Given the description of an element on the screen output the (x, y) to click on. 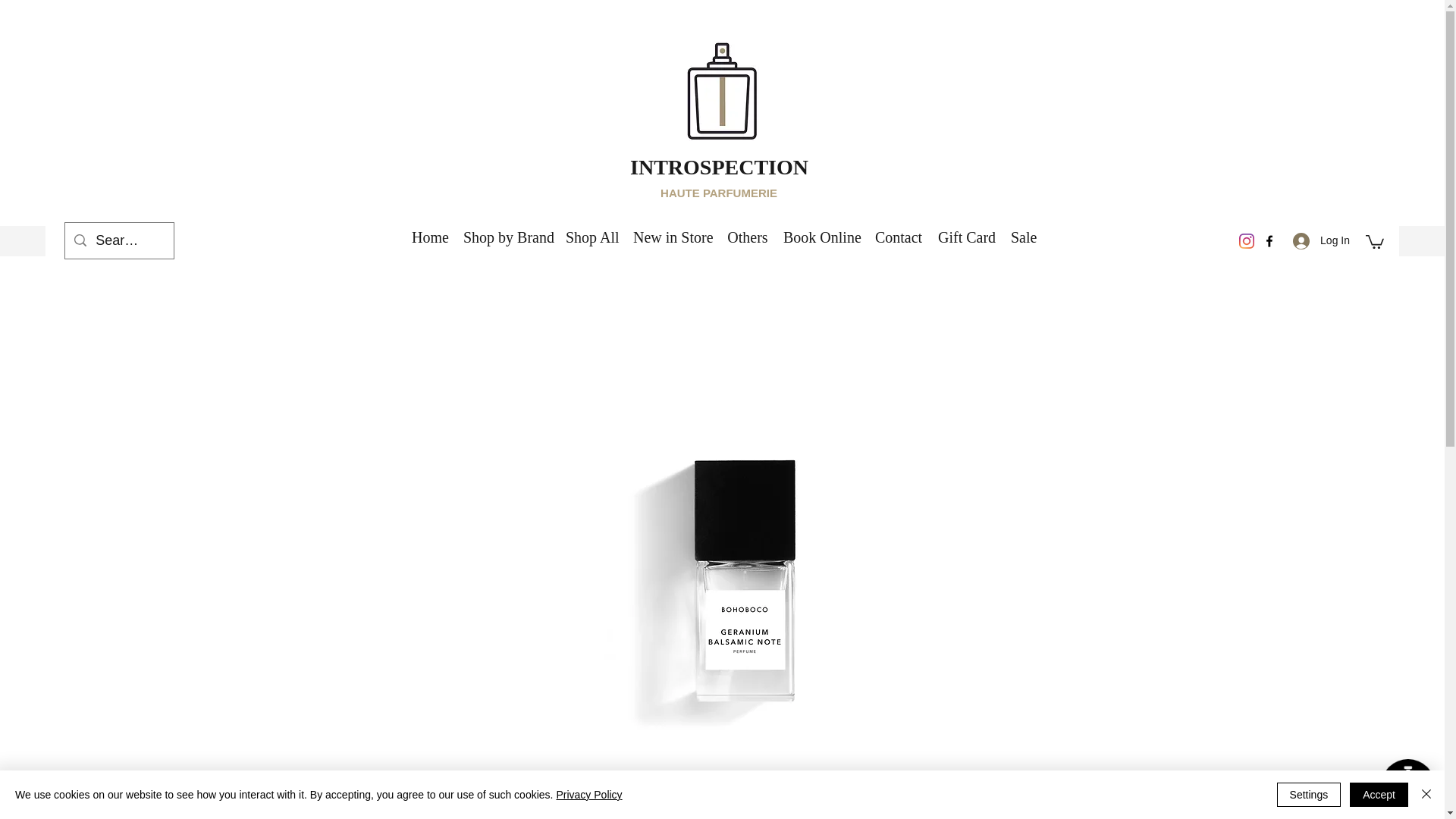
New in Store (672, 237)
Shop All (591, 237)
Shop by Brand (506, 237)
Contact (898, 237)
Sale (1022, 237)
Accept (1378, 794)
Book Online (821, 237)
Log In (1320, 240)
Others (747, 237)
Privacy Policy (588, 794)
Gift Card (966, 237)
Home (429, 237)
Settings (1308, 794)
